Given the description of an element on the screen output the (x, y) to click on. 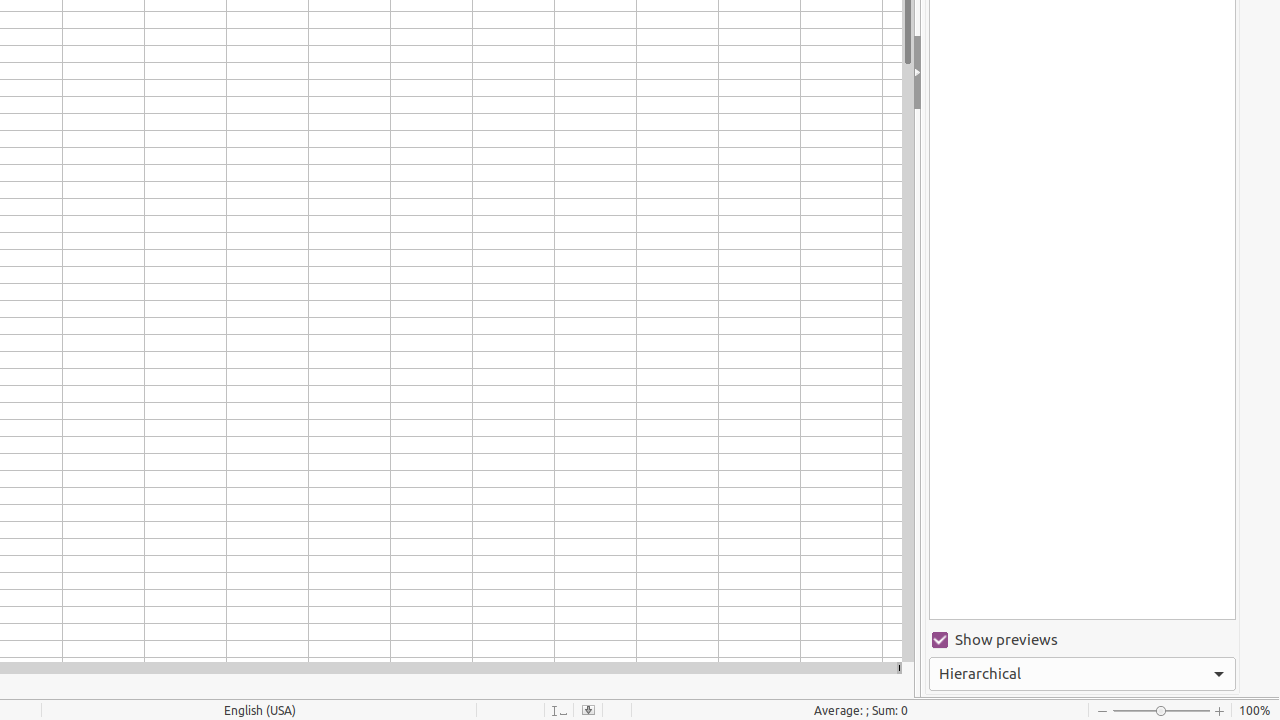
Show previews Element type: check-box (1082, 640)
